Given the description of an element on the screen output the (x, y) to click on. 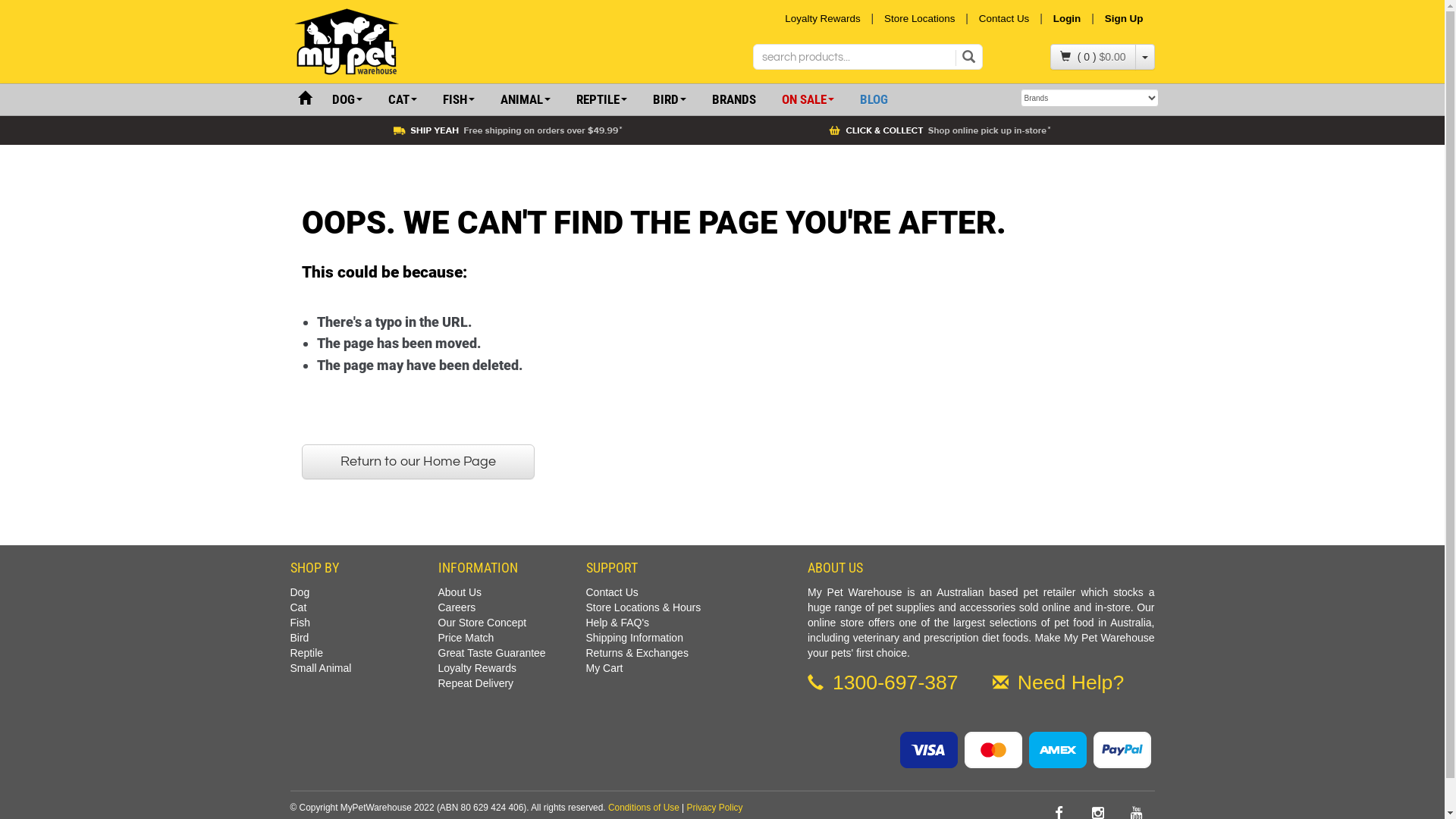
BIRD Element type: text (669, 99)
Fish Element type: text (299, 622)
REPTILE Element type: text (600, 99)
( 0 ) $0.00 Element type: text (1092, 56)
DOG Element type: text (346, 99)
Sign Up Element type: text (1127, 18)
BLOG Element type: text (873, 99)
Return to our Home Page Element type: text (417, 461)
Cat Element type: text (297, 607)
Shipping Information Element type: text (633, 637)
Great Taste Guarantee Element type: text (492, 652)
ANIMAL Element type: text (524, 99)
About Us Element type: text (460, 592)
Bird Element type: text (298, 637)
Careers Element type: text (457, 607)
Our Store Concept Element type: text (482, 622)
Toggle Dropdown Element type: text (1144, 56)
Returns & Exchanges Element type: text (636, 652)
Home Element type: hover (303, 99)
Privacy Policy Element type: text (715, 807)
Login Element type: text (1067, 18)
Price Match Element type: text (466, 637)
Store Locations Element type: text (919, 18)
Store Locations & Hours Element type: text (642, 607)
FISH Element type: text (457, 99)
Reptile Element type: text (306, 652)
ON SALE Element type: text (807, 99)
$0.00 Element type: text (1111, 56)
Loyalty Rewards Element type: text (477, 668)
Conditions of Use Element type: text (643, 807)
www.mypetwarehouse.com.au Element type: hover (390, 41)
Contact Us Element type: text (611, 592)
Help & FAQ's Element type: text (617, 622)
Dog Element type: text (299, 592)
Small Animal Element type: text (320, 668)
My Cart Element type: text (603, 668)
Contact Us Element type: text (1004, 18)
Need Help? Element type: text (1057, 685)
Repeat Delivery Element type: text (476, 683)
CAT Element type: text (401, 99)
BRANDS Element type: text (733, 99)
Loyalty Rewards Element type: text (821, 18)
